Given the description of an element on the screen output the (x, y) to click on. 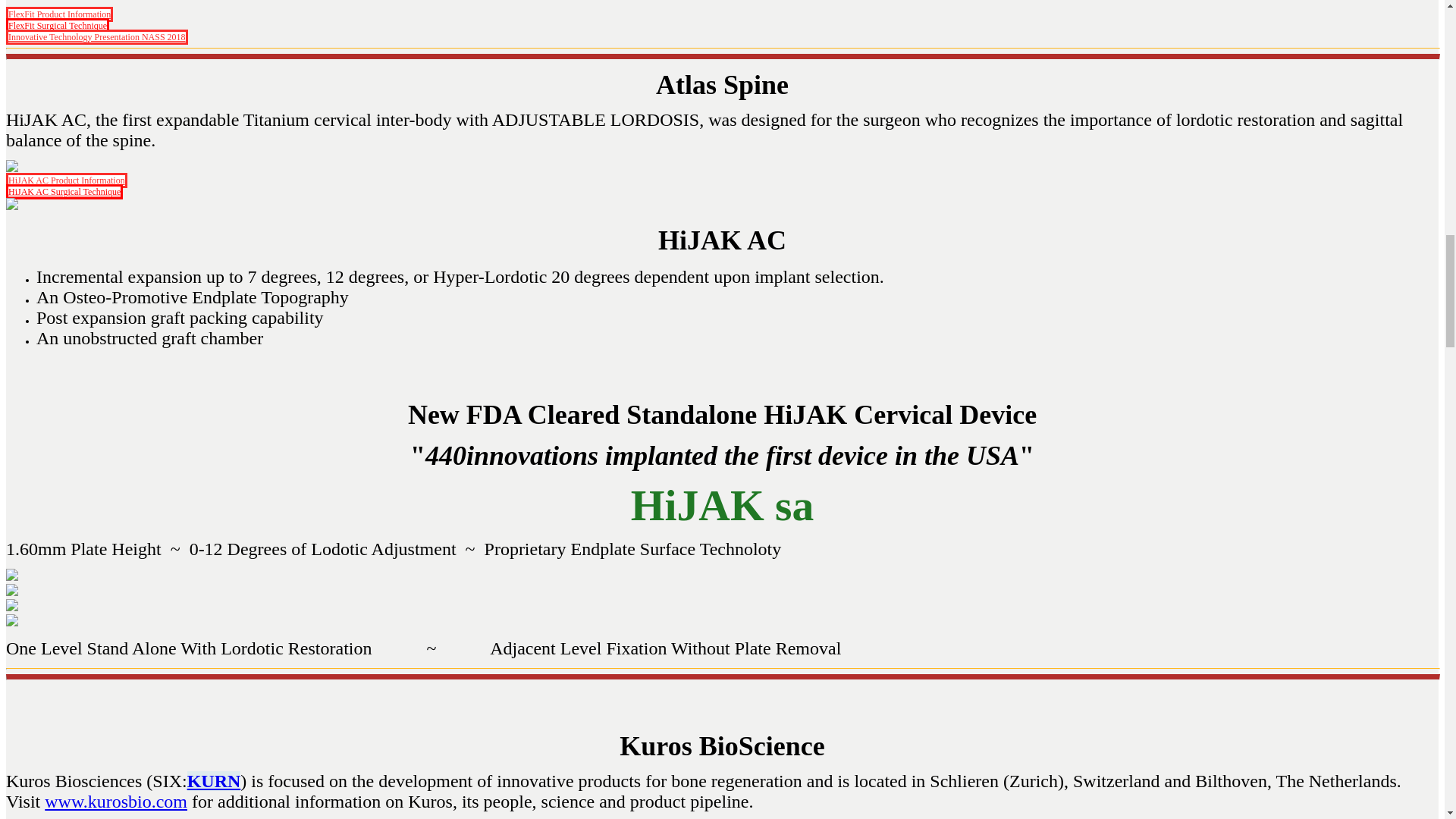
HiJAK AC Surgical Technique (63, 191)
FlexFit Surgical Technique (57, 25)
Innovative Technology Presentation NASS 2018 (96, 37)
HiJAK AC Product Information (66, 180)
FlexFit Product Information (59, 14)
KURN (214, 781)
www.kurosbio.com (116, 801)
